Given the description of an element on the screen output the (x, y) to click on. 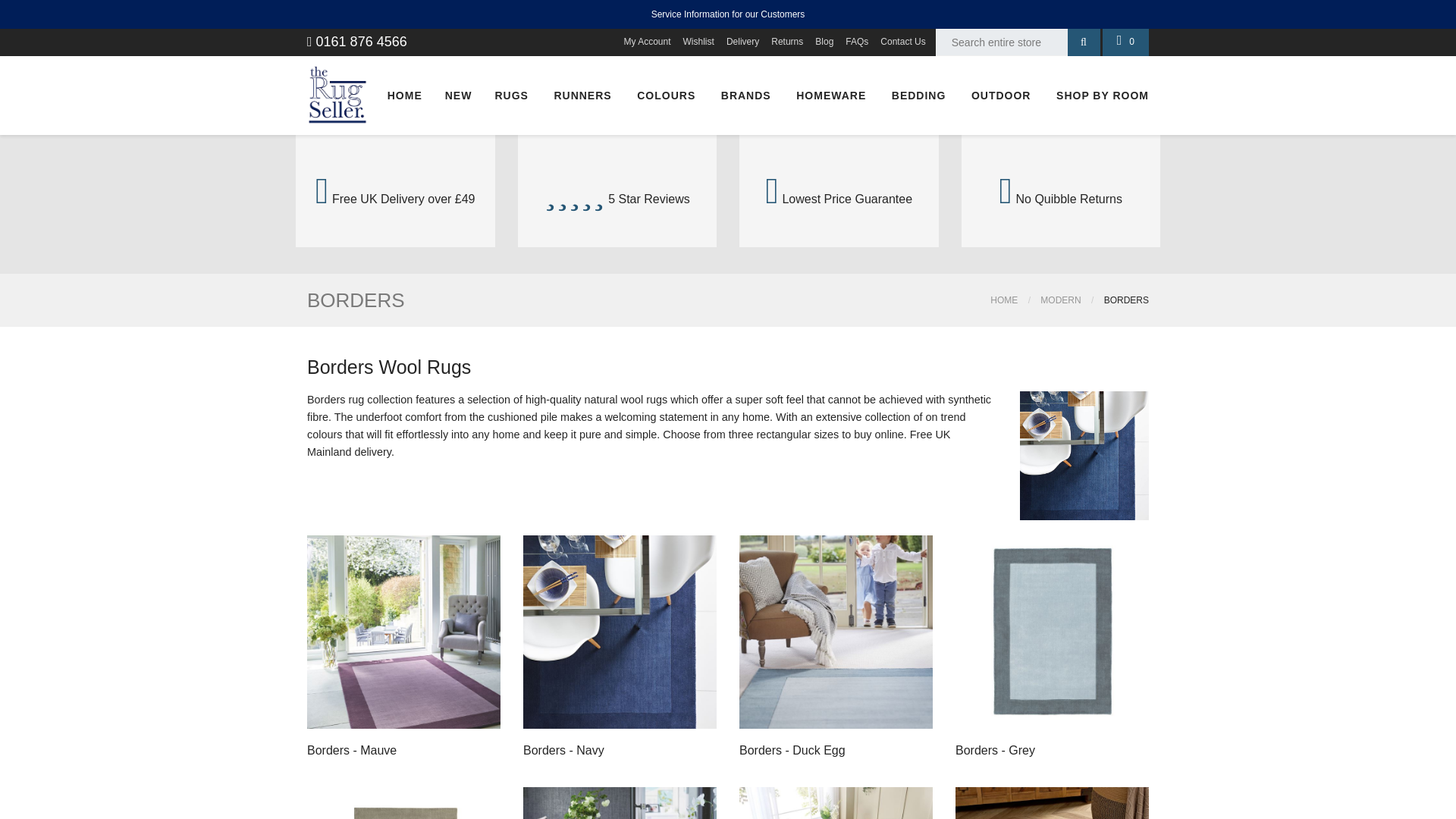
Contact Us (902, 41)
Returns (786, 41)
My Account (646, 41)
0 (1125, 42)
Wishlist (698, 41)
0161 876 4566 (357, 41)
Service Information for our Customers (727, 14)
FAQs (856, 41)
Delivery (742, 41)
